Given the description of an element on the screen output the (x, y) to click on. 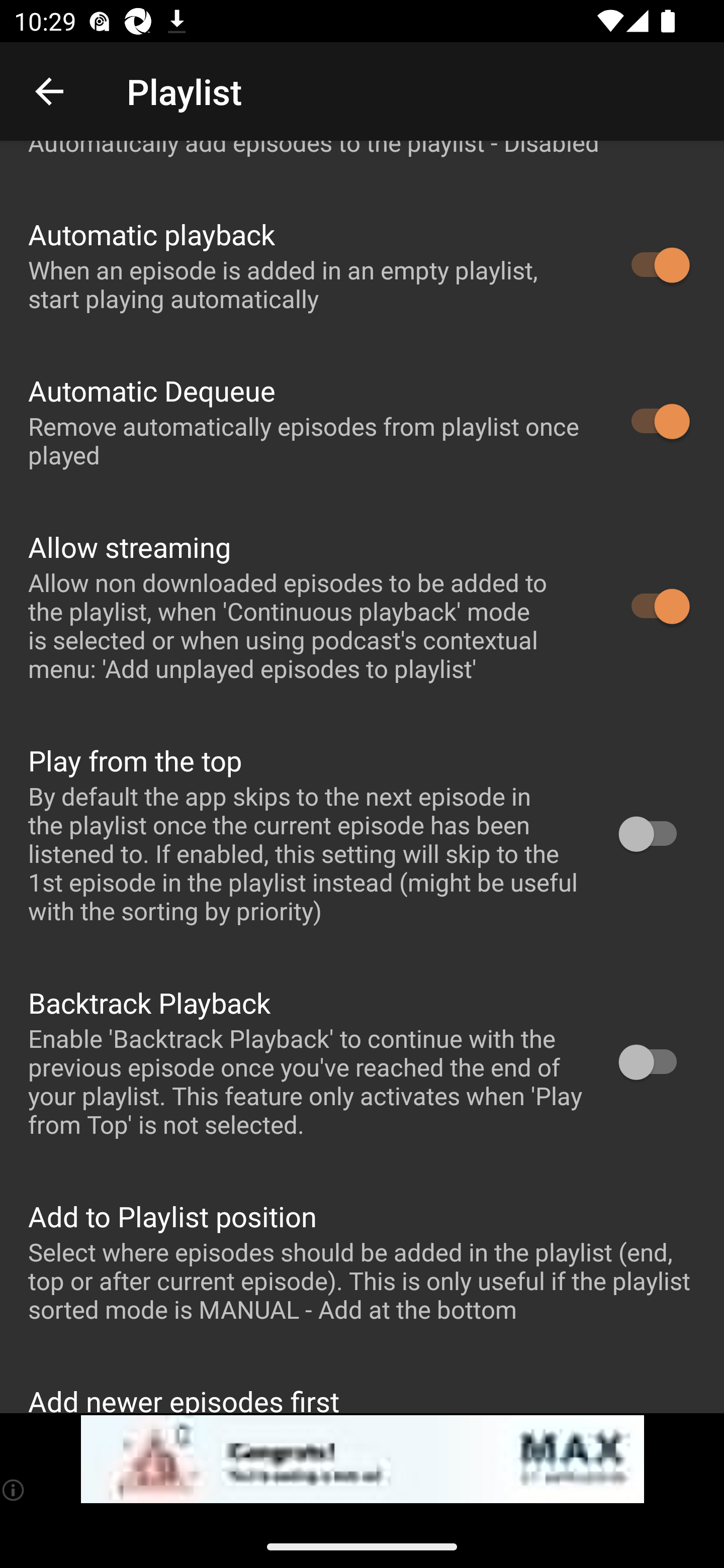
Navigate up (49, 91)
app-monetization (362, 1459)
(i) (14, 1489)
